Given the description of an element on the screen output the (x, y) to click on. 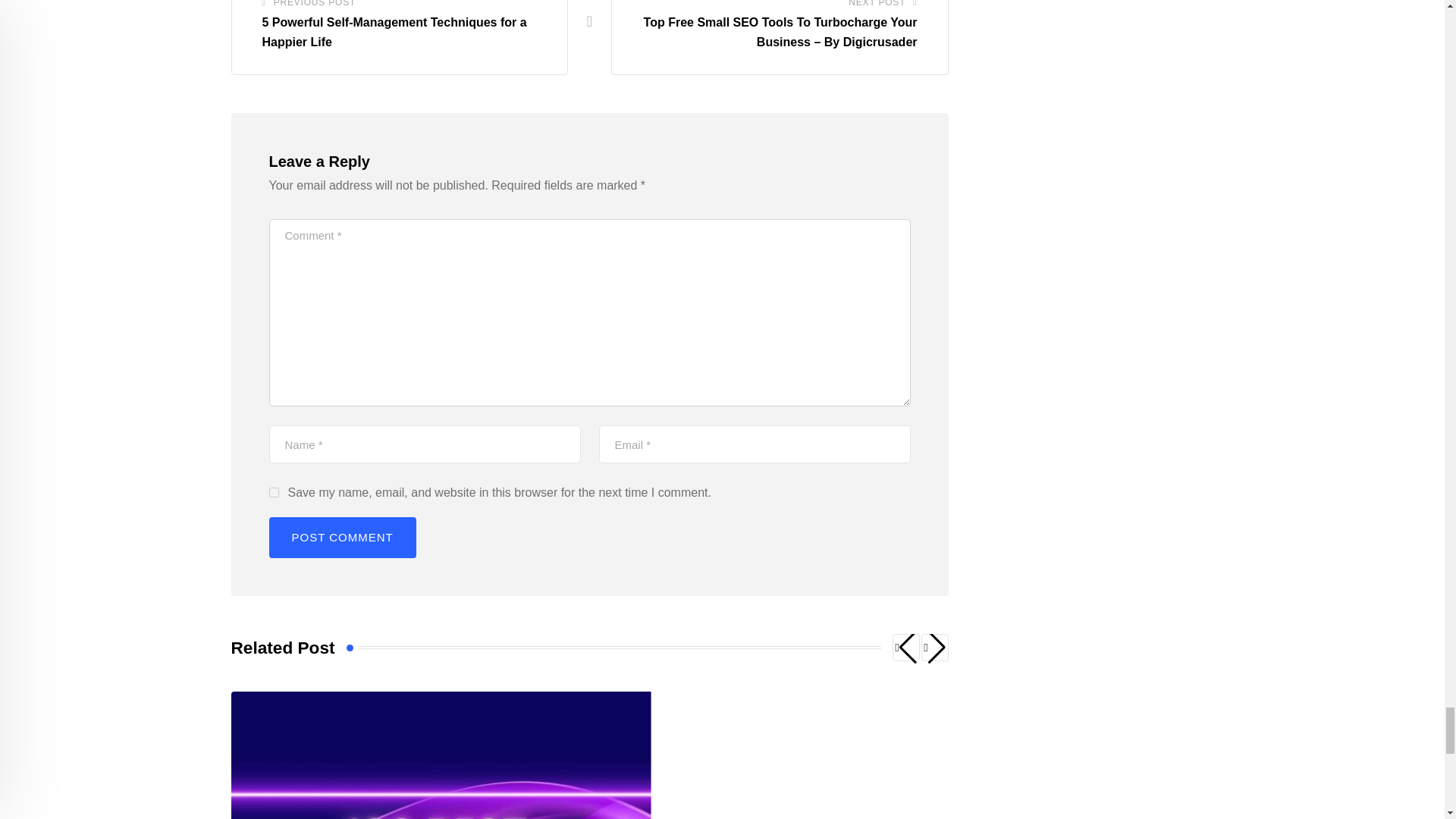
Post Comment (340, 536)
yes (272, 492)
